Given the description of an element on the screen output the (x, y) to click on. 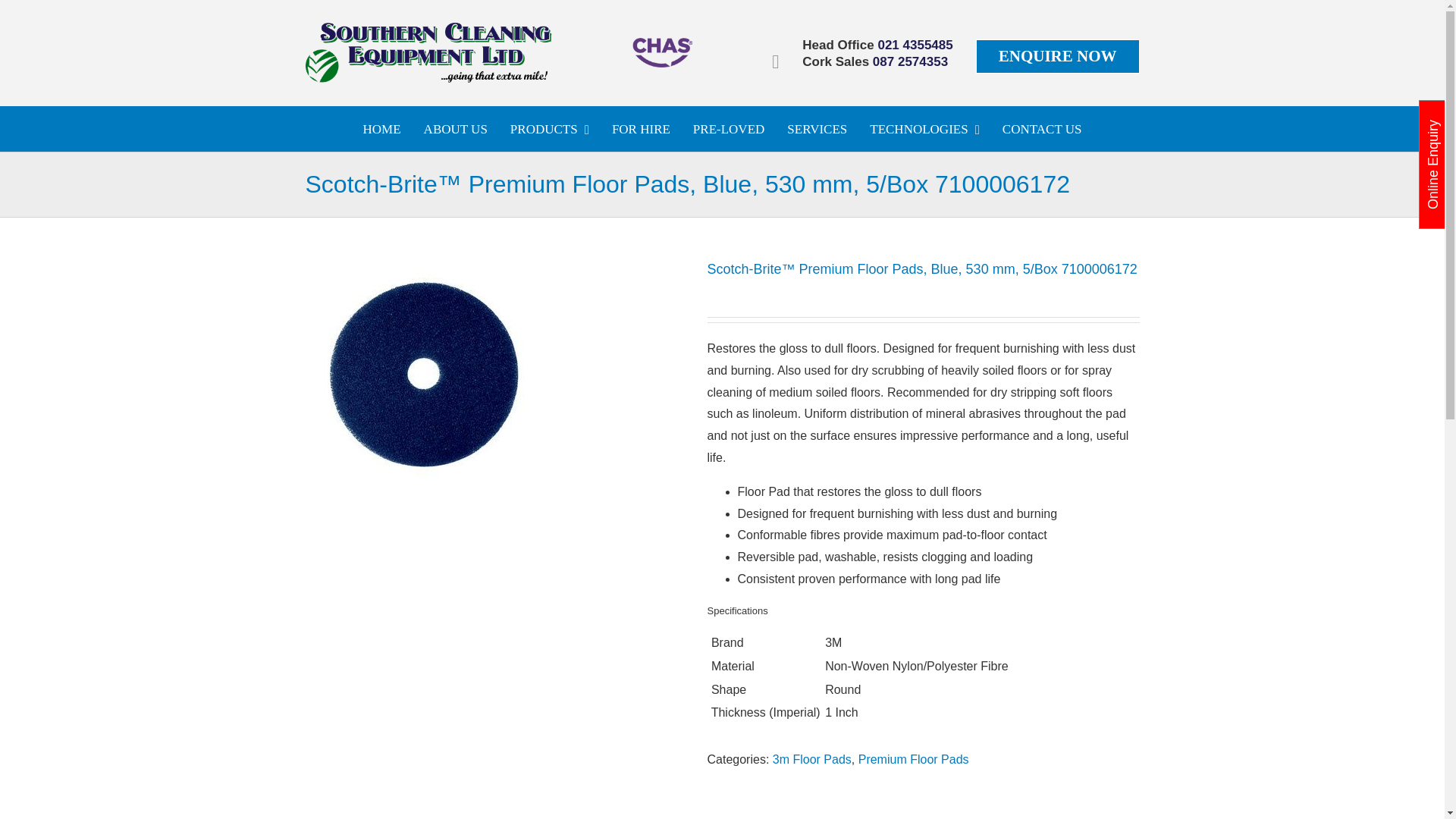
087 2574353 (909, 62)
ABOUT US (455, 128)
PRODUCTS (549, 128)
HOME (382, 128)
ENQUIRE NOW (1057, 56)
SERVICES (817, 128)
PRE-LOVED (728, 128)
FOR HIRE (640, 128)
021 4355485 (914, 45)
blue-economy-floor-pad (422, 376)
CONTACT US (1042, 128)
TECHNOLOGIES (925, 128)
